Given the description of an element on the screen output the (x, y) to click on. 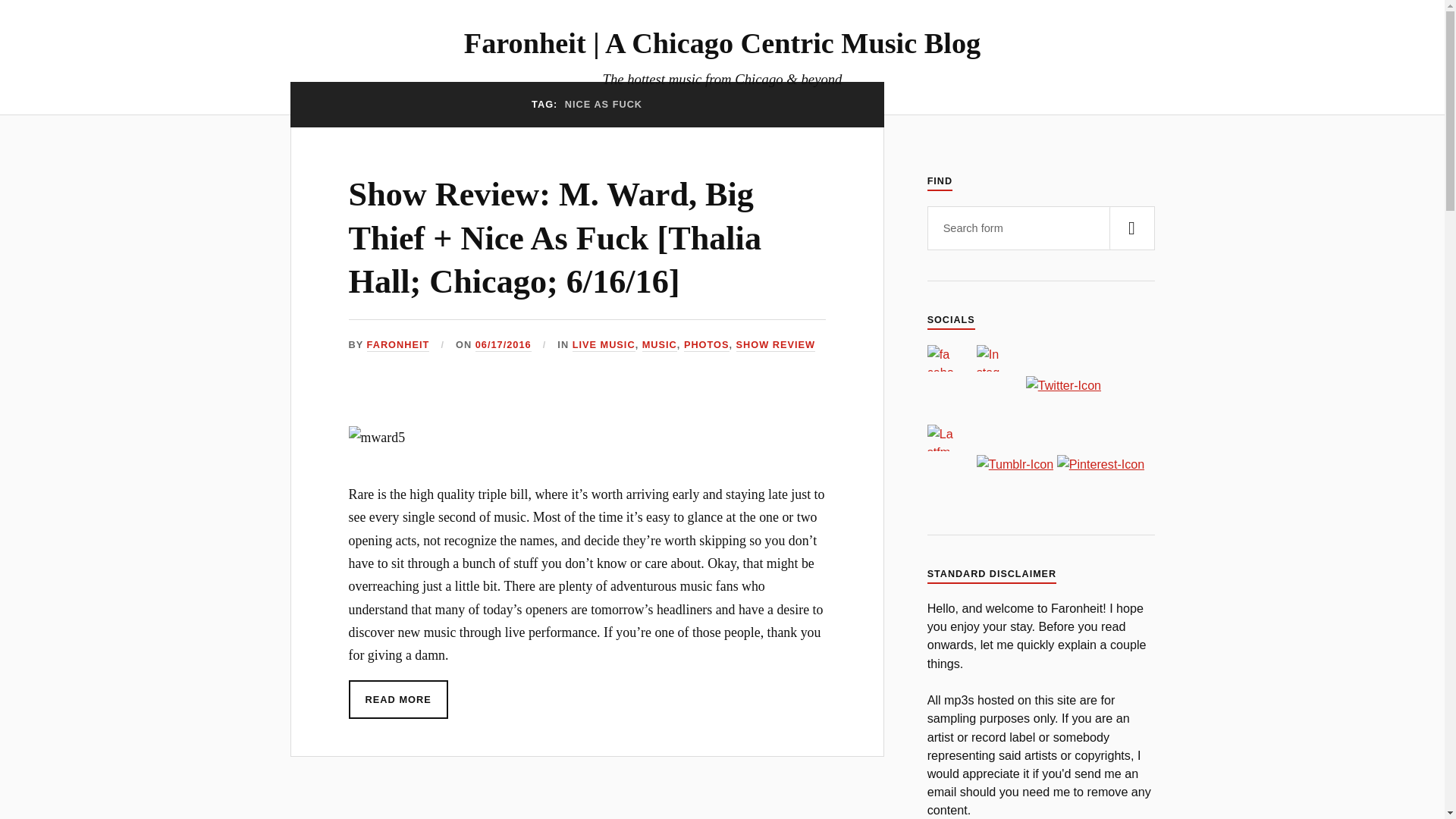
FARONHEIT (397, 345)
PHOTOS (706, 345)
MUSIC (659, 345)
LIVE MUSIC (603, 345)
Posts by Faronheit (397, 345)
SHOW REVIEW (775, 345)
READ MORE (398, 699)
